Given the description of an element on the screen output the (x, y) to click on. 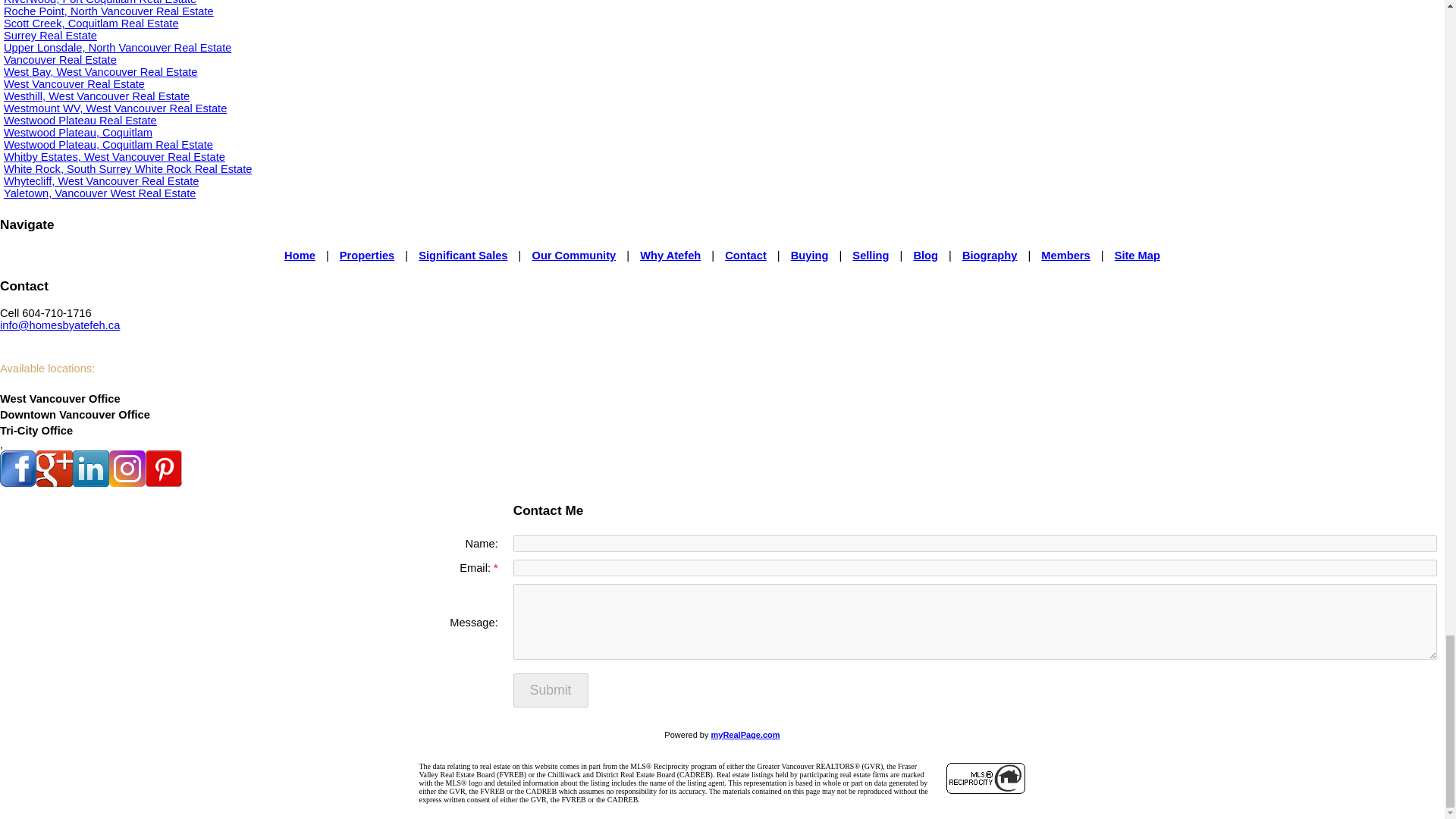
Selling (869, 255)
Properties (366, 255)
Buying (809, 255)
Blog (924, 255)
Site Map (1137, 255)
Home (299, 255)
Why Atefeh (670, 255)
Significant Sales (462, 255)
Biography (989, 255)
Our Community (573, 255)
Contact (746, 255)
Members (1065, 255)
